Given the description of an element on the screen output the (x, y) to click on. 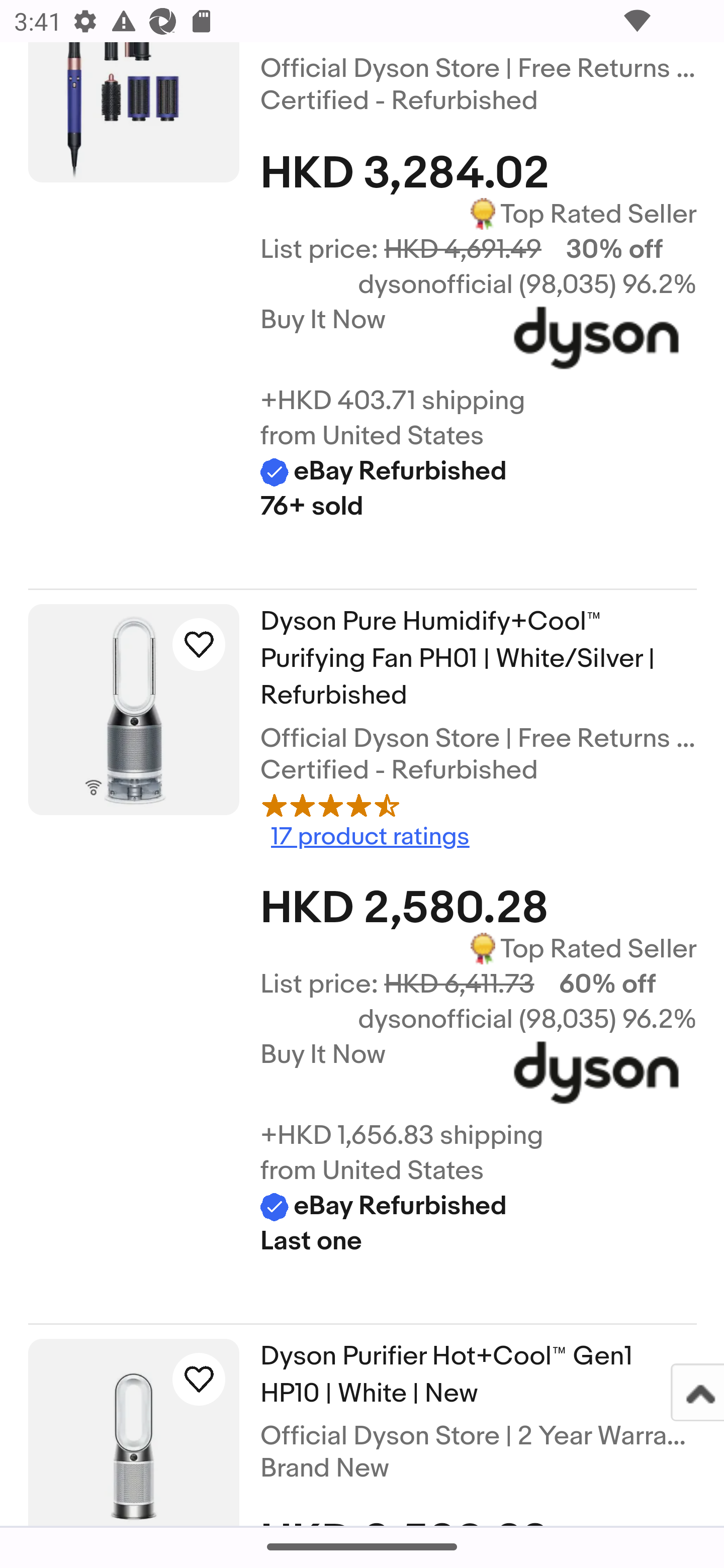
Visit dysonofficial eBay Store! (596, 343)
Visit dysonofficial eBay Store! (596, 1077)
Scroll to top (696, 1392)
